Given the description of an element on the screen output the (x, y) to click on. 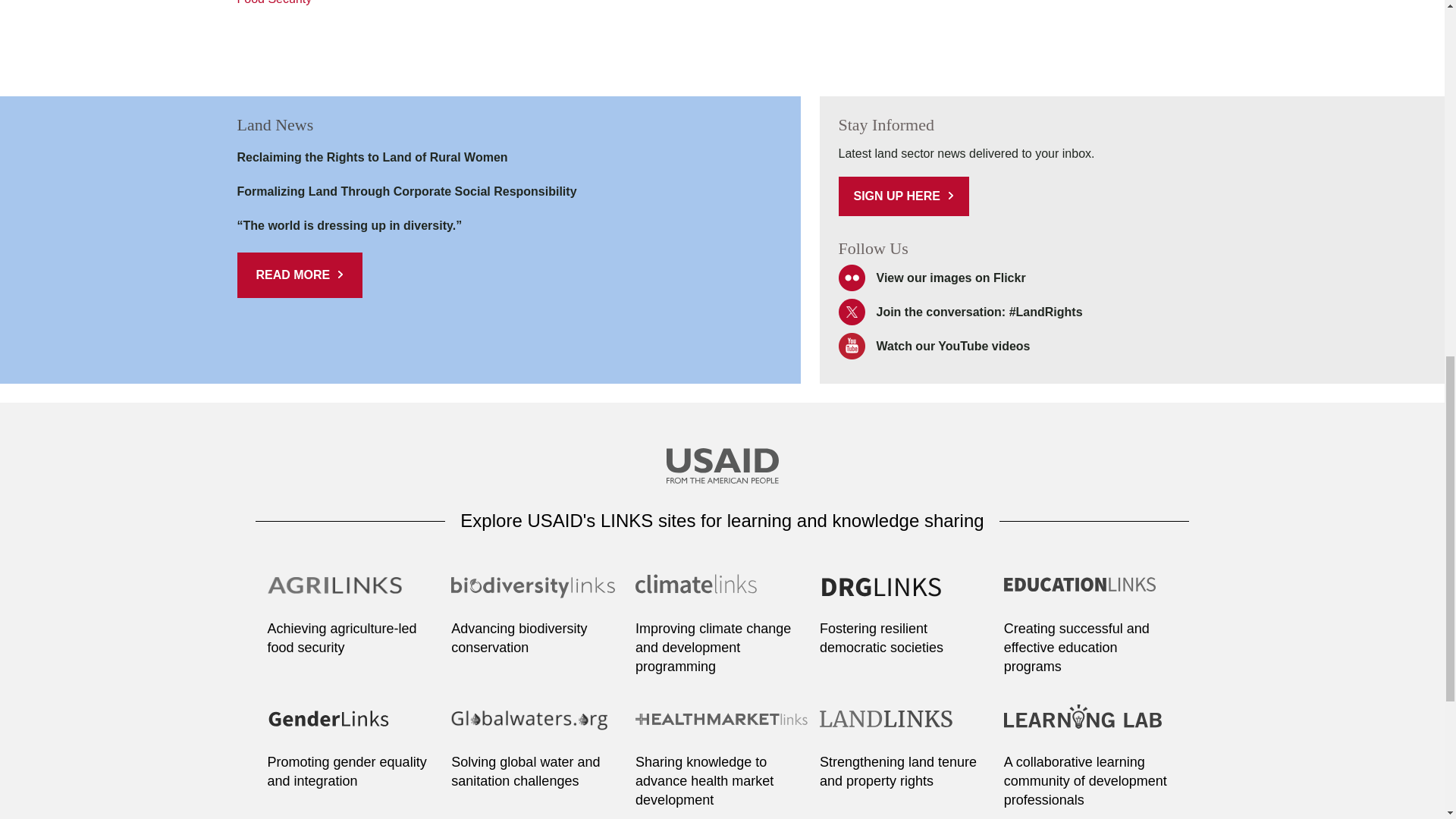
Go to Healthmarket Links (721, 727)
Go to Globalwaters (537, 727)
Go to Genderlinks (353, 727)
Go to Biodiversitylinks (537, 594)
Go to DRG (905, 594)
Go to LearningLab (1090, 727)
Go to USAID (721, 467)
Go to Climatelinks (721, 594)
Go to Agrilinks (353, 594)
Go to Educationlinks (1090, 594)
Go to Landlinks (905, 727)
